Given the description of an element on the screen output the (x, y) to click on. 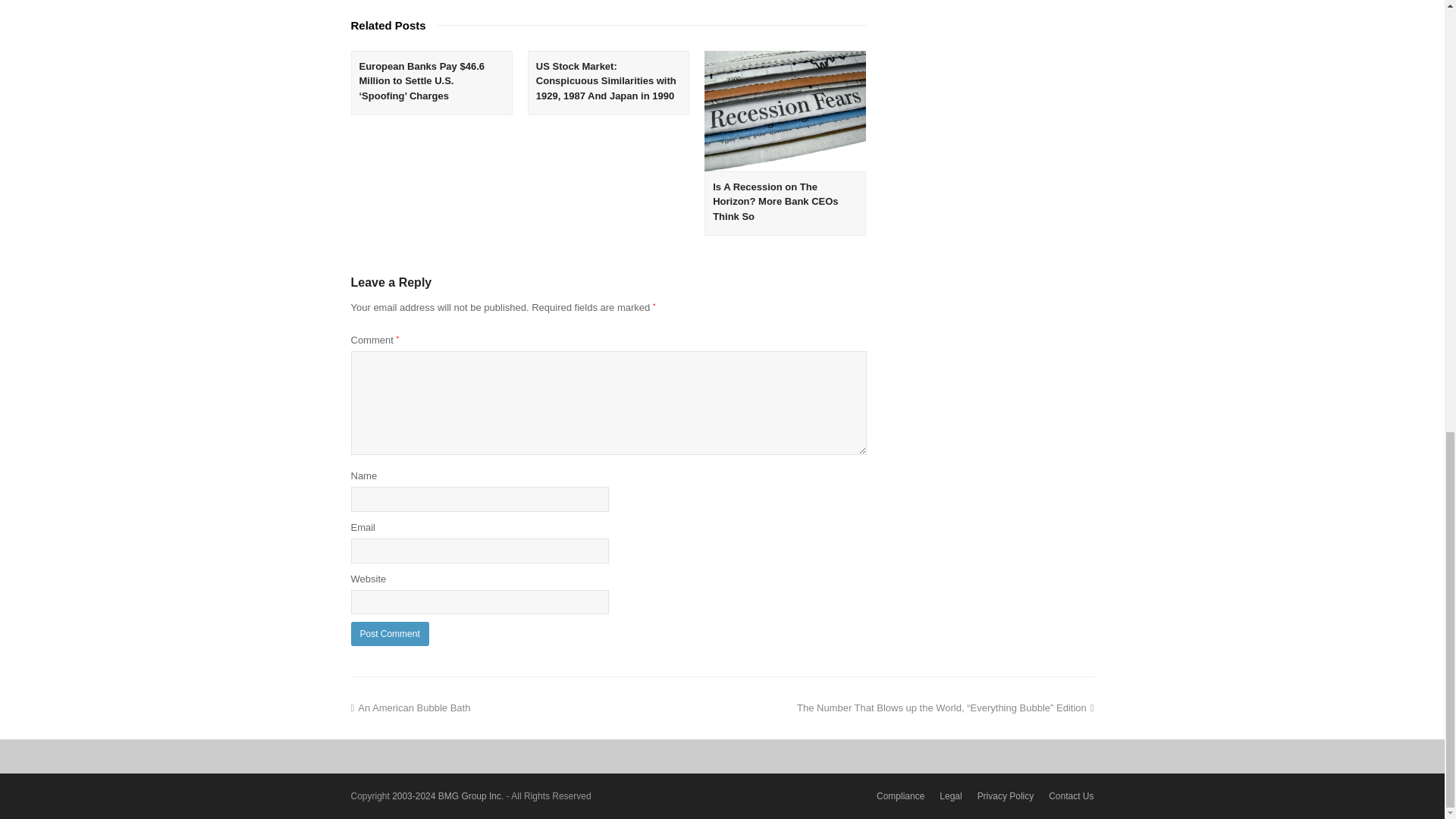
Is A Recession on The Horizon? More Bank CEOs Think So (775, 200)
Is A Recession on The Horizon? More Bank CEOs Think So (785, 110)
Post Comment (389, 633)
An American Bubble Bath (410, 707)
Is A Recession on The Horizon? More Bank CEOs Think So (775, 200)
Post Comment (389, 633)
